Given the description of an element on the screen output the (x, y) to click on. 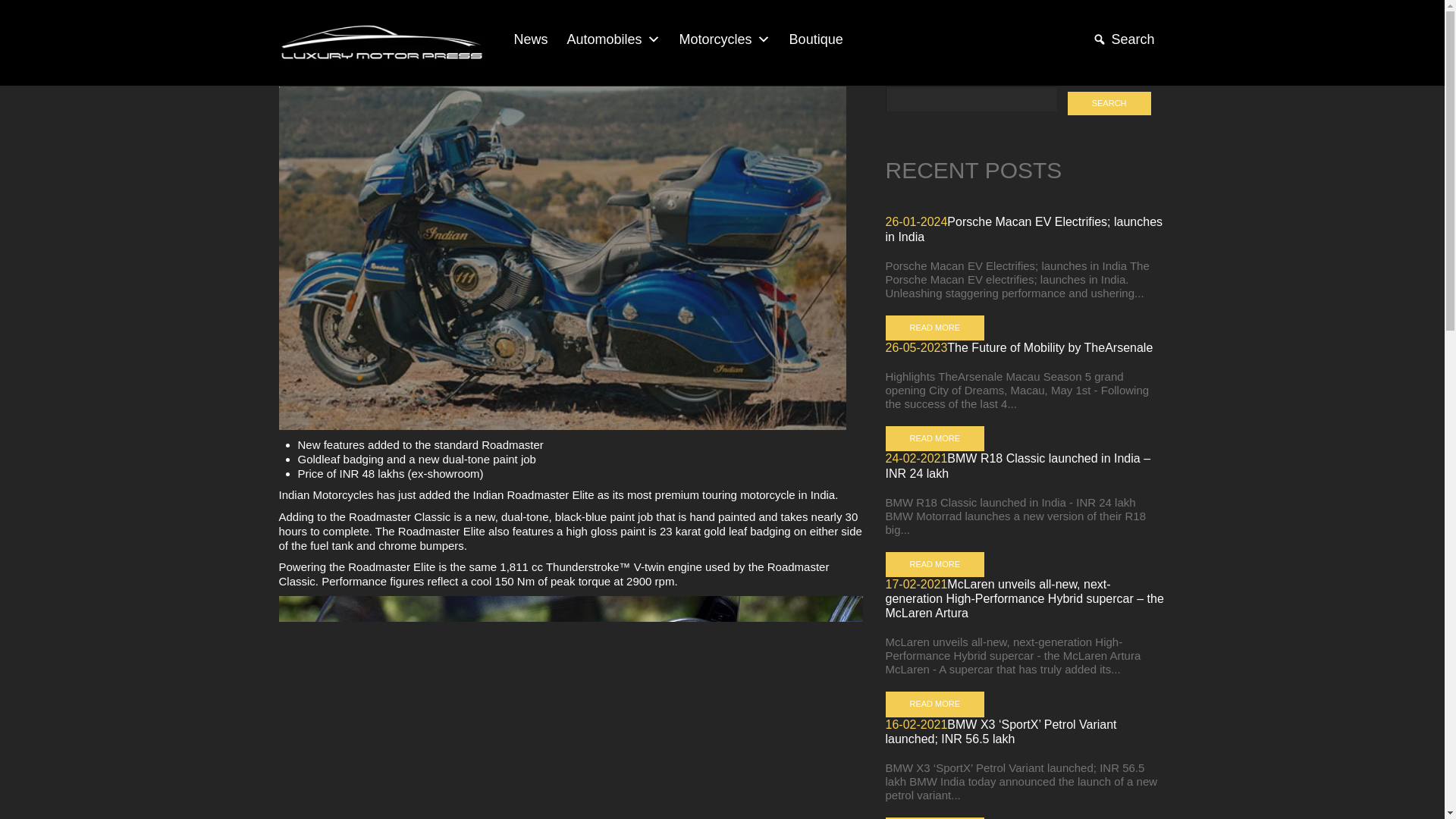
Motorcycles (722, 39)
Automobiles (611, 39)
News (528, 39)
Porsche Macan EV Electrifies; launches in India (1024, 228)
Boutique (814, 39)
Epic Journeys (381, 42)
search (1109, 103)
search (1109, 103)
Search (1120, 39)
